Given the description of an element on the screen output the (x, y) to click on. 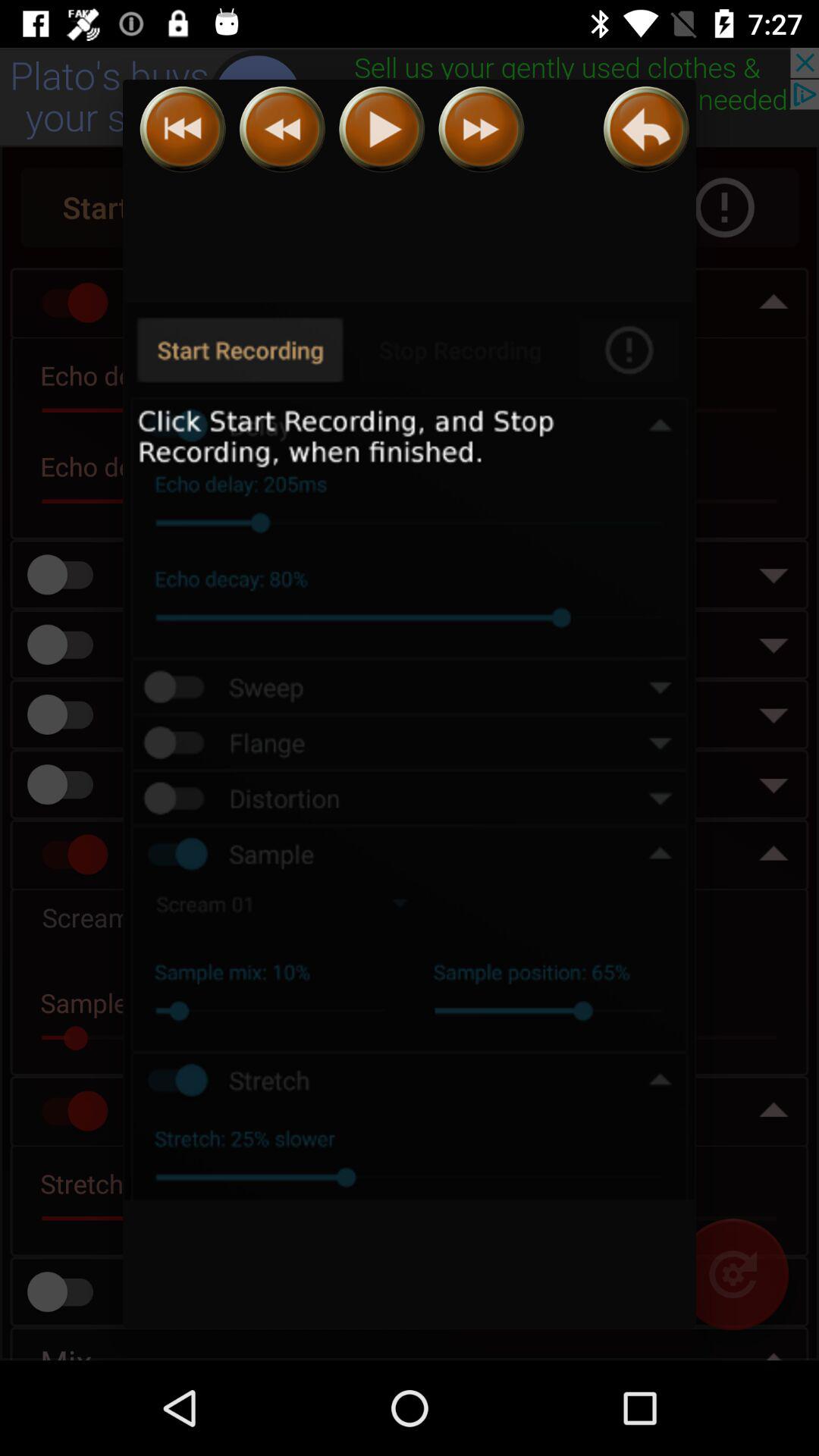
back button (646, 129)
